Given the description of an element on the screen output the (x, y) to click on. 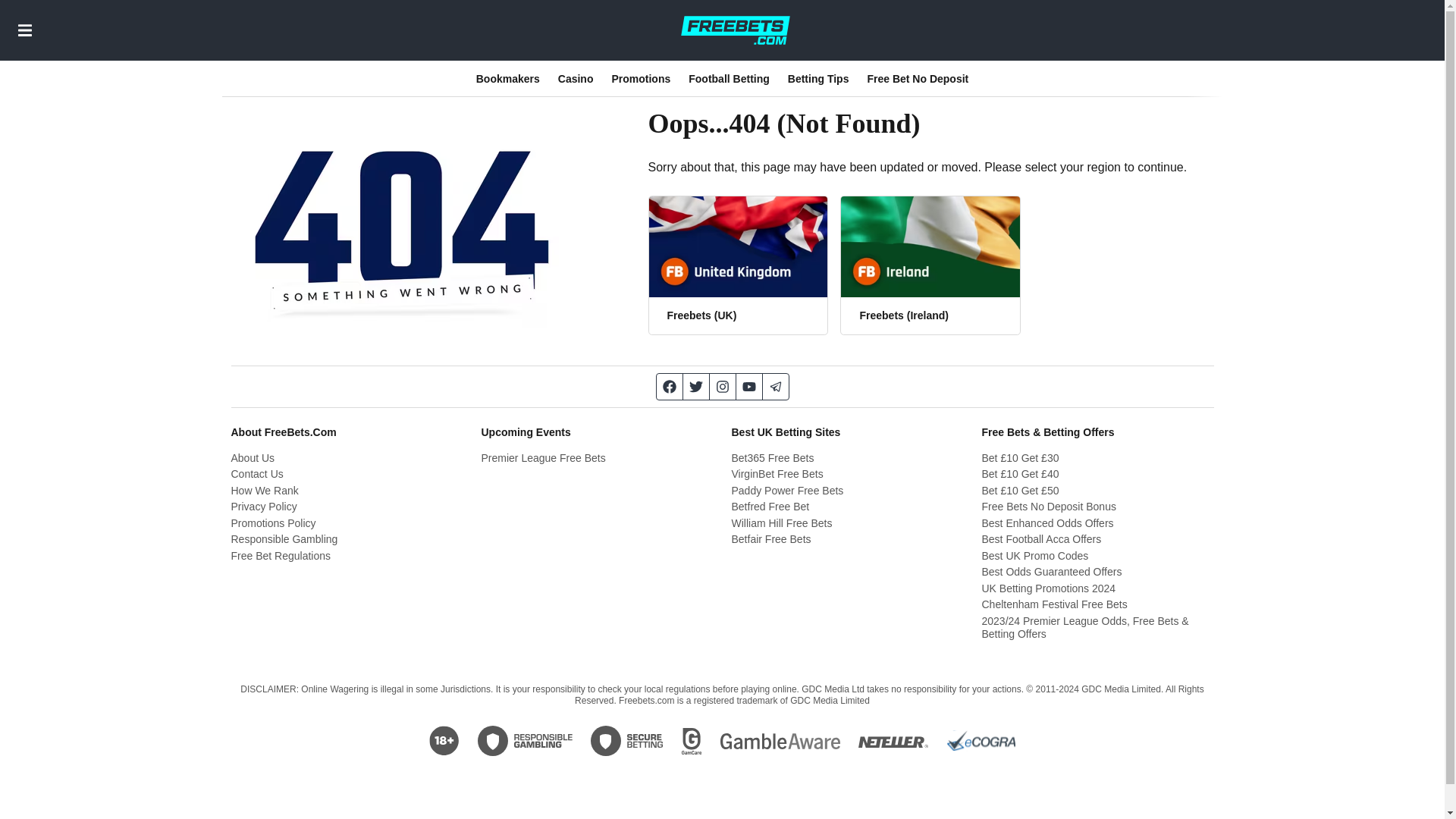
Instagram page (723, 386)
FreeBets Logo (735, 29)
Youtube page (748, 386)
Twitter feed (695, 386)
Facebook page (669, 386)
Telegram (775, 386)
